Given the description of an element on the screen output the (x, y) to click on. 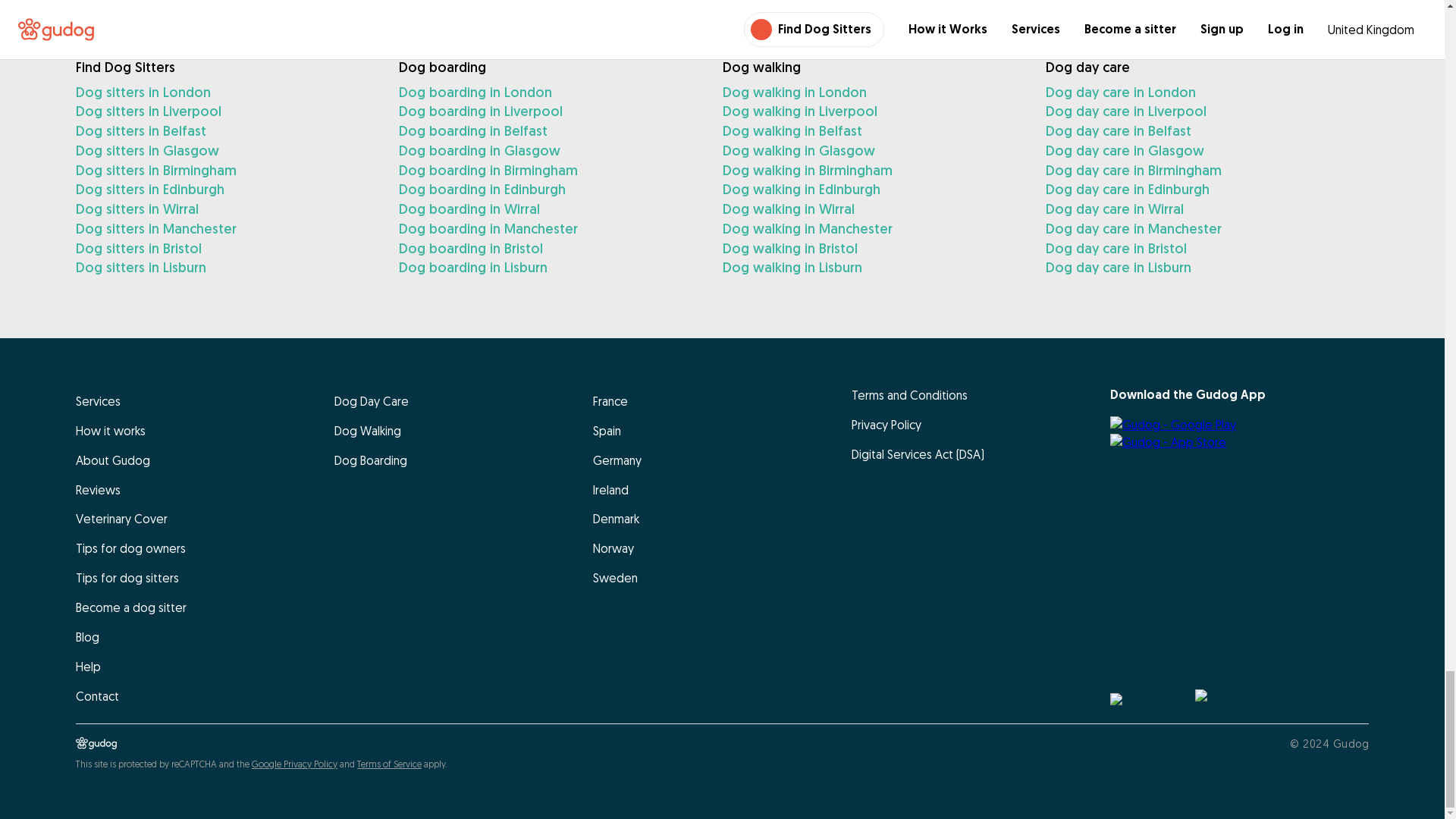
Dog boarding in Belfast (547, 130)
Dog boarding in Birmingham (547, 170)
Dog boarding in London (547, 92)
Dog sitters in Belfast (224, 130)
Dog sitters in Birmingham (224, 170)
Dog sitters in Bristol (224, 248)
Dog sitters in Manchester (224, 229)
Dog boarding in Glasgow (547, 150)
Dog sitters in Bristol (224, 248)
Dog sitters in London (224, 92)
Dog boarding in London (547, 92)
Dog sitters in Lisburn (224, 267)
Dog sitters in Edinburgh (224, 189)
Dog sitters in Wirral (224, 209)
Dog sitters in Edinburgh (224, 189)
